Given the description of an element on the screen output the (x, y) to click on. 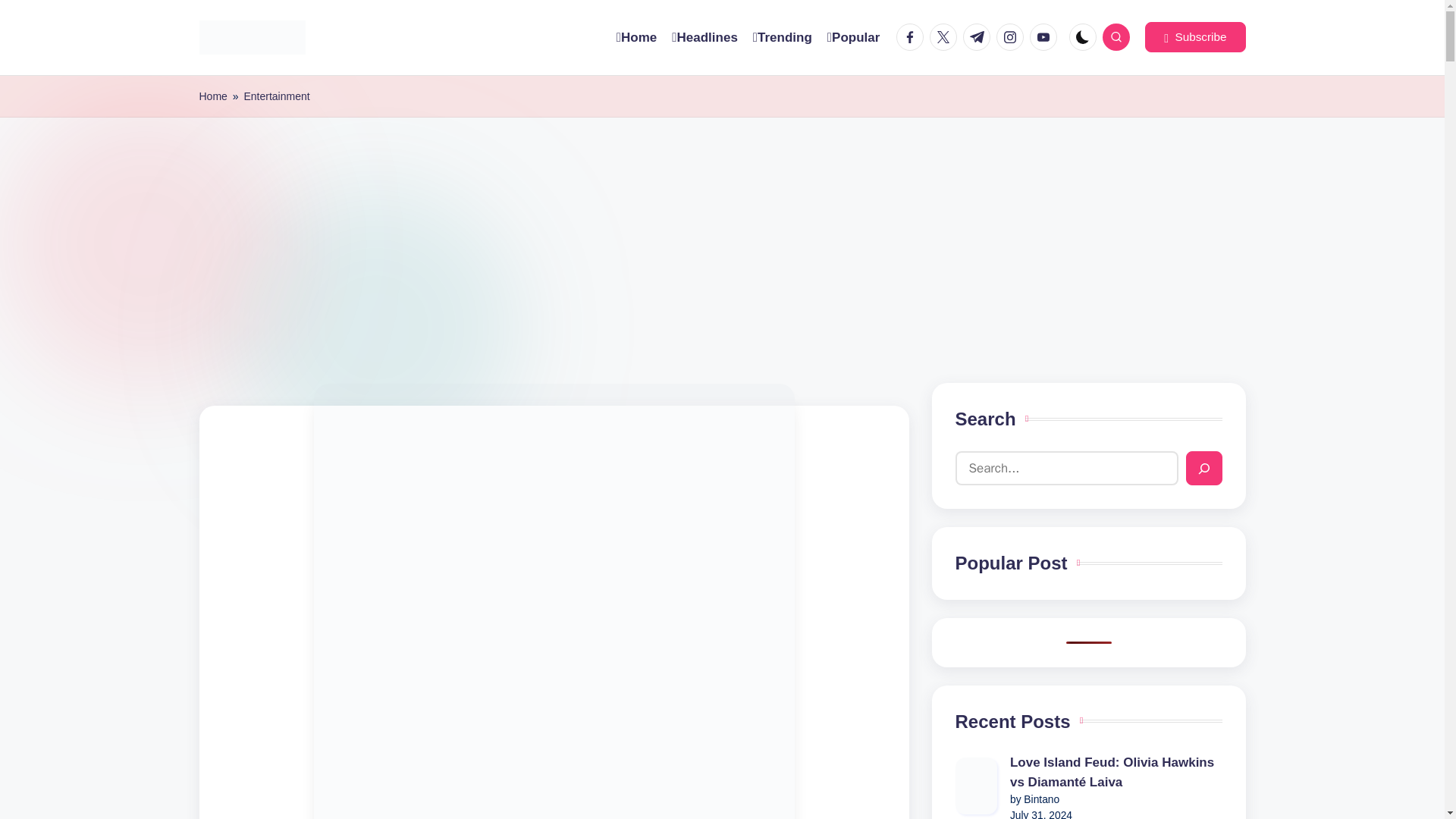
twitter.com (946, 36)
Home (212, 96)
Entertainment (275, 96)
facebook.com (913, 36)
instagram.com (1012, 36)
youtube.com (1045, 36)
t.me (978, 36)
Subscribe (1194, 37)
